Given the description of an element on the screen output the (x, y) to click on. 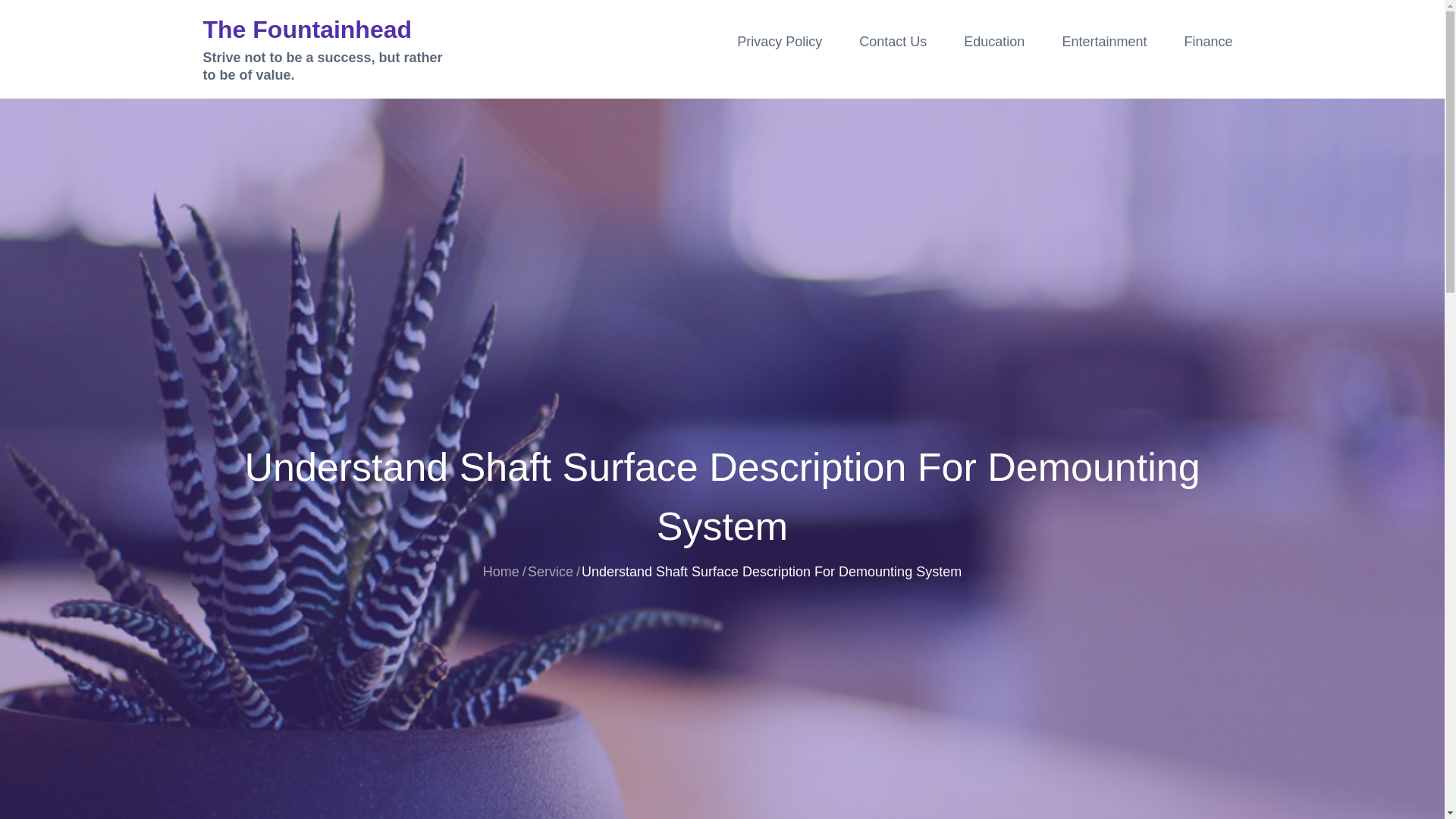
The Fountainhead (307, 29)
Privacy Policy (779, 41)
Education (994, 41)
Service (550, 571)
Contact Us (893, 41)
Entertainment (1104, 41)
Finance (1207, 41)
Home (501, 571)
